Given the description of an element on the screen output the (x, y) to click on. 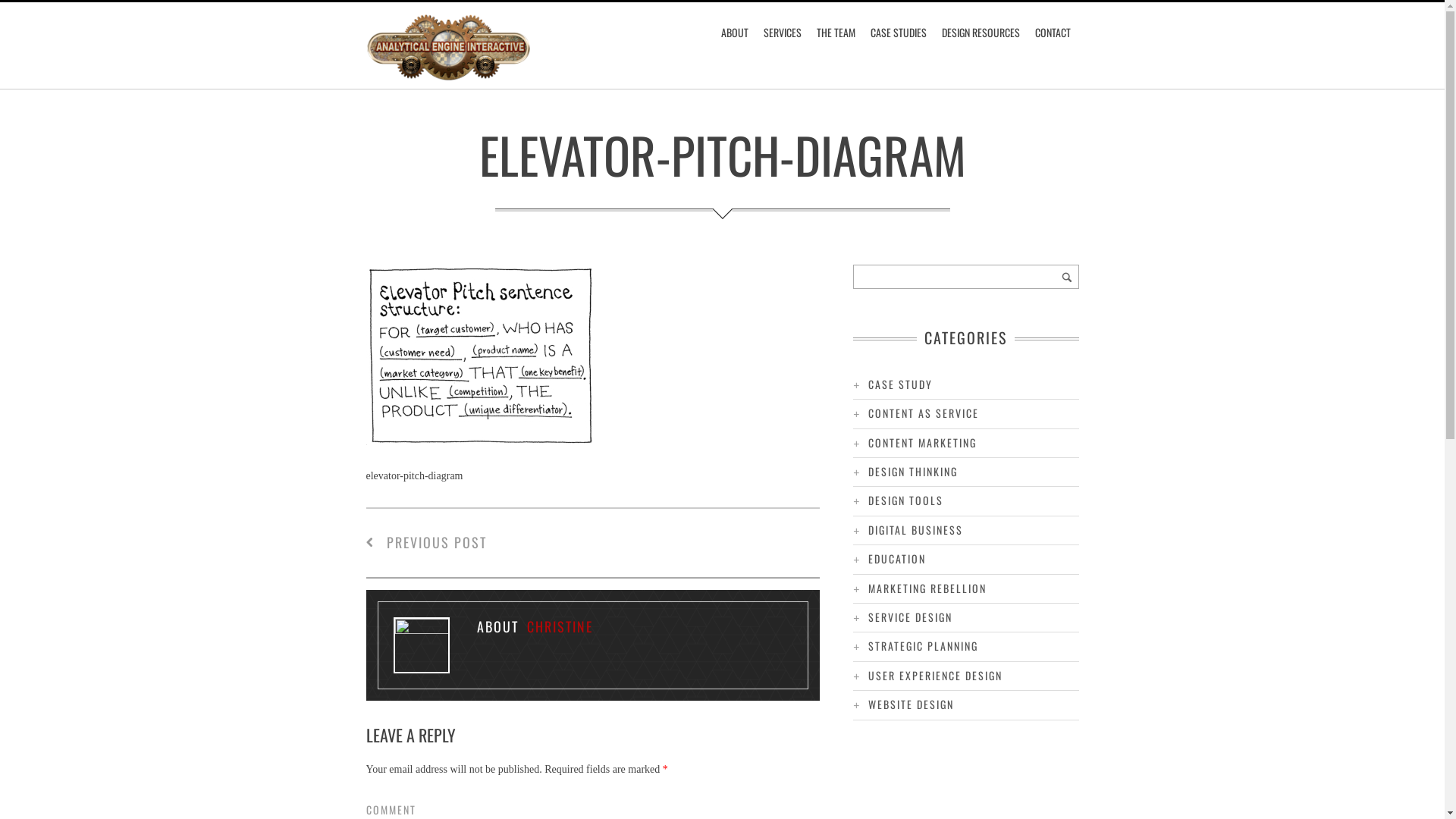
DESIGN RESOURCES Element type: text (980, 32)
PREVIOUS POST Element type: text (425, 542)
SERVICES Element type: text (782, 32)
CASE STUDY Element type: text (900, 384)
MARKETING REBELLION Element type: text (927, 588)
STRATEGIC PLANNING Element type: text (923, 645)
CONTENT AS SERVICE Element type: text (923, 412)
SERVICE DESIGN Element type: text (910, 616)
CASE STUDIES Element type: text (898, 32)
ABOUT Element type: text (734, 32)
DESIGN TOOLS Element type: text (905, 500)
DIGITAL BUSINESS Element type: text (915, 529)
WEBSITE DESIGN Element type: text (910, 704)
USER EXPERIENCE DESIGN Element type: text (935, 675)
CONTACT Element type: text (1052, 32)
Search Element type: hover (1066, 276)
DESIGN THINKING Element type: text (912, 471)
CONTENT MARKETING Element type: text (922, 442)
THE TEAM Element type: text (835, 32)
EDUCATION Element type: text (896, 558)
CHRISTINE Element type: text (559, 626)
